Given the description of an element on the screen output the (x, y) to click on. 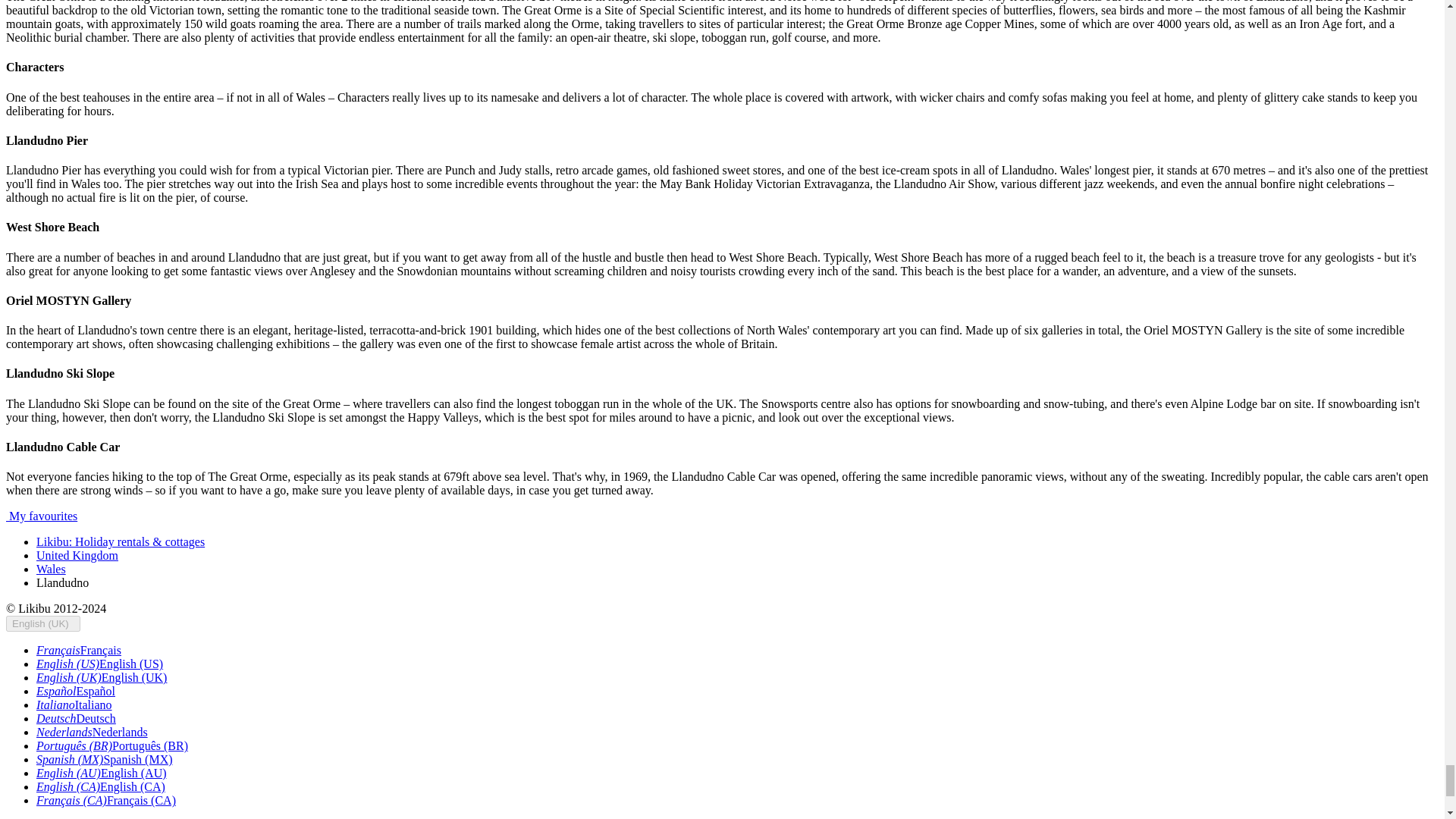
 My favourites (41, 515)
Wales (50, 568)
United Kingdom (76, 554)
DeutschDeutsch (76, 717)
NederlandsNederlands (92, 731)
ItalianoItaliano (74, 704)
